Given the description of an element on the screen output the (x, y) to click on. 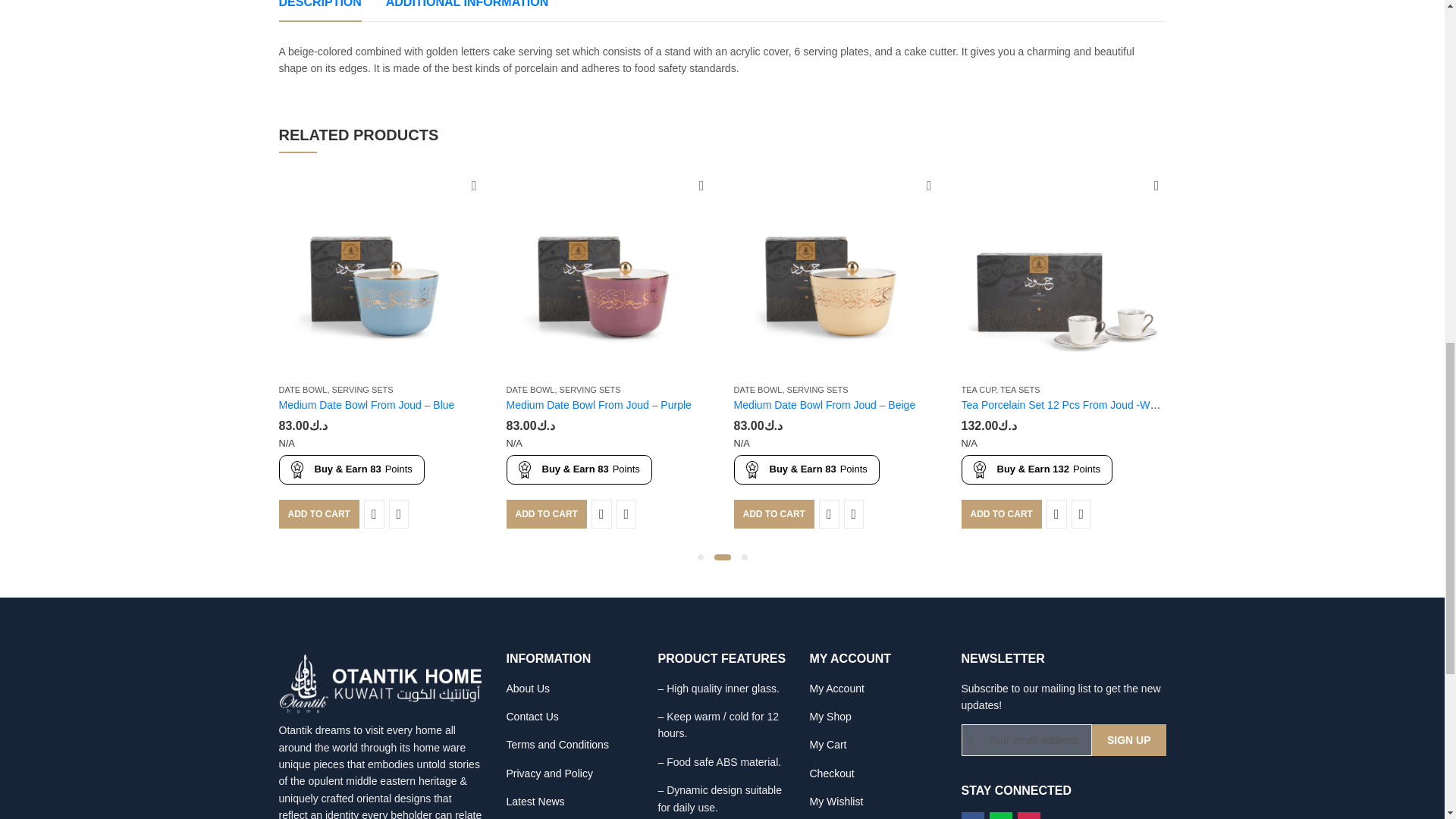
Sign up (1129, 739)
